Given the description of an element on the screen output the (x, y) to click on. 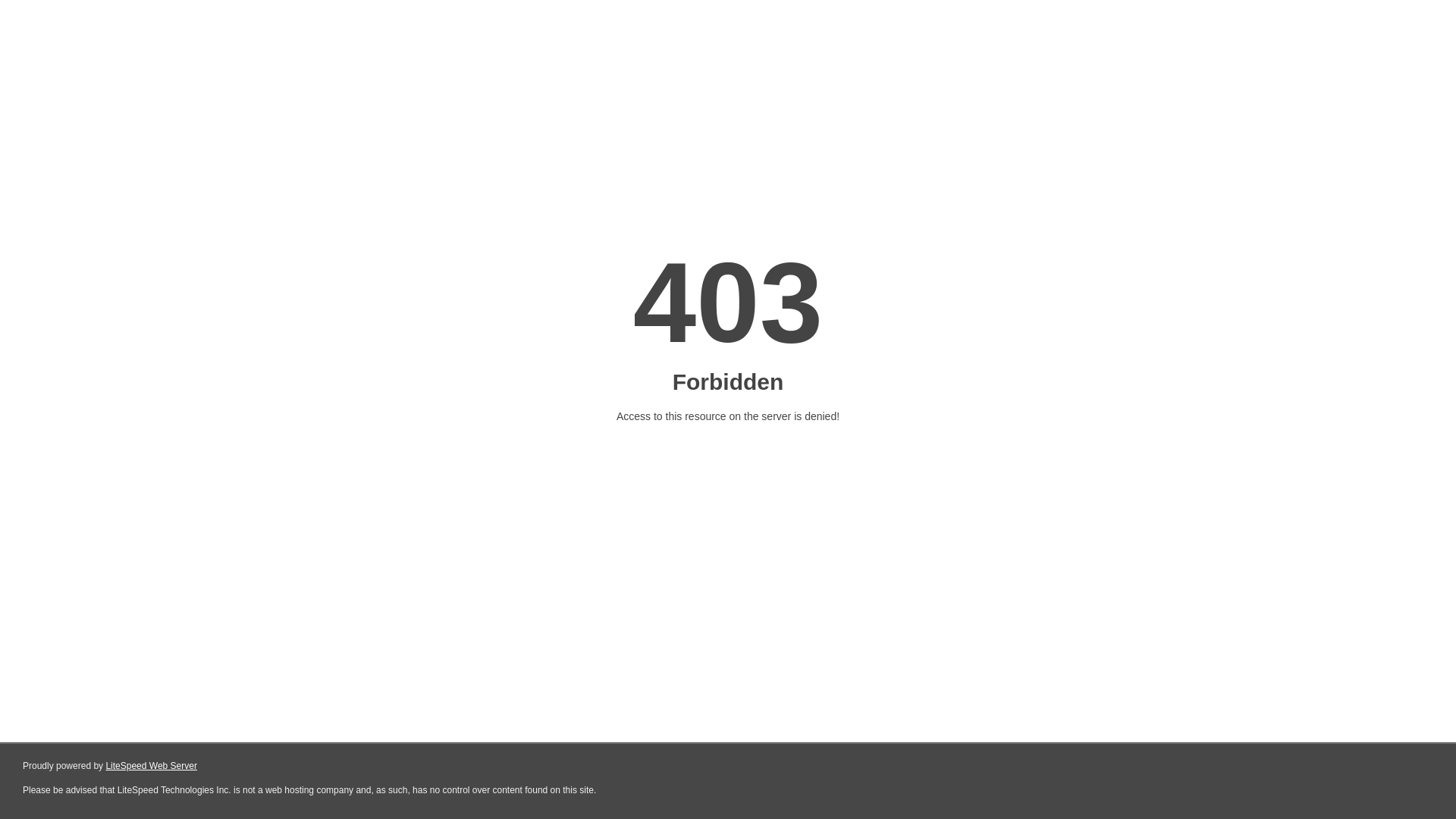
LiteSpeed Web Server (150, 765)
